Given the description of an element on the screen output the (x, y) to click on. 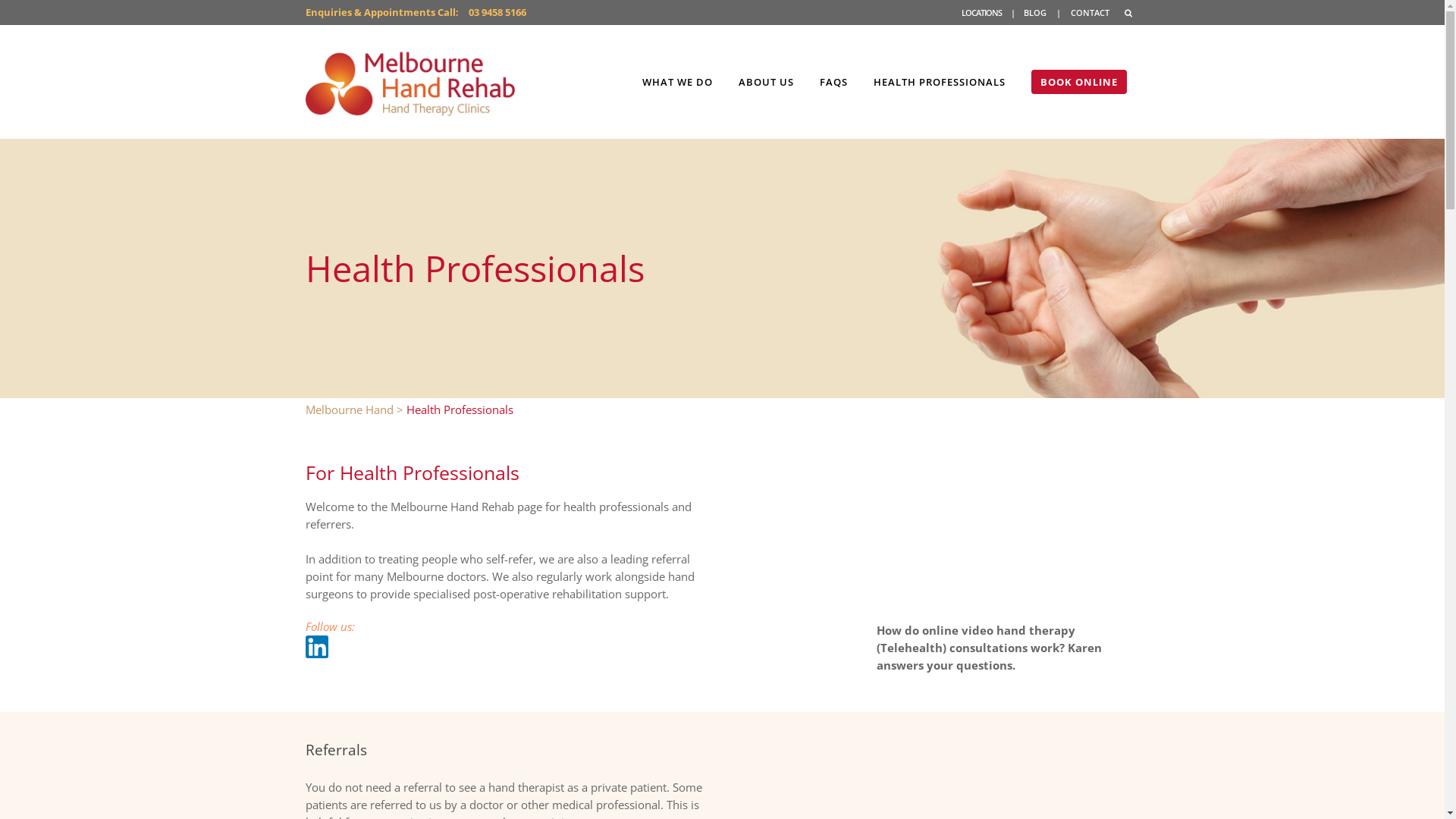
Contact Element type: text (735, 732)
Our Therapists Element type: text (735, 534)
WHAT WE DO Element type: text (677, 81)
Hand Conditions Element type: text (735, 495)
03 9458 5166 Element type: text (497, 11)
Terms & Conditions Element type: text (681, 798)
ABOUT US Element type: text (765, 81)
Blog Element type: text (735, 672)
Hand Therapy Services Element type: text (735, 475)
About Us Element type: text (735, 456)
CONTACT Element type: text (1089, 12)
FAQs Element type: text (735, 554)
03 9458 5166 Element type: text (404, 509)
Appointments Element type: text (735, 574)
Melbourne Hand Element type: text (348, 409)
What to Expect Element type: text (735, 515)
HEALTH PROFESSIONALS Element type: text (938, 81)
Clinic Locations Element type: text (735, 633)
BOOK ONLINE Element type: text (1078, 81)
Surgeons questions Element type: hover (1007, 532)
Follow us: Element type: text (329, 625)
LOCATIONS Element type: text (981, 12)
Testimonials Element type: text (735, 712)
Careers Element type: text (735, 613)
FAQS Element type: text (833, 81)
BLOG Element type: text (1034, 12)
Free Hand Therapy Webinars Element type: text (735, 692)
Privacy Policy Element type: text (781, 798)
SIGN ME UP Element type: text (930, 508)
info@melbournehand.com.au Element type: text (420, 541)
For Health Professionals Element type: text (735, 594)
News and Events Element type: text (735, 653)
Archive > October 2023 Newsletter Element type: text (976, 547)
COVID-19 policy & safe plan Element type: text (735, 751)
